Given the description of an element on the screen output the (x, y) to click on. 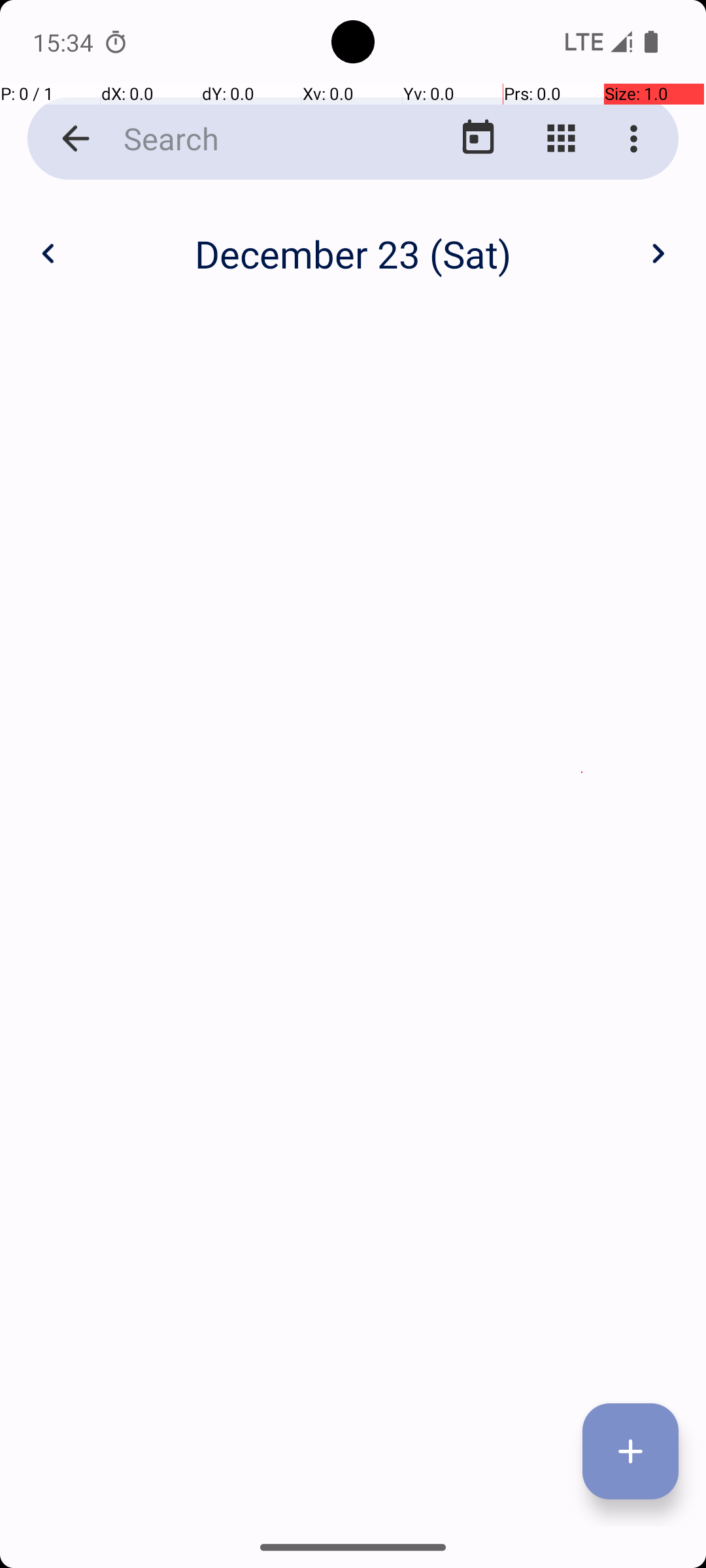
December Element type: android.widget.TextView (352, 239)
December 23 (Sat) Element type: android.widget.TextView (352, 253)
